Given the description of an element on the screen output the (x, y) to click on. 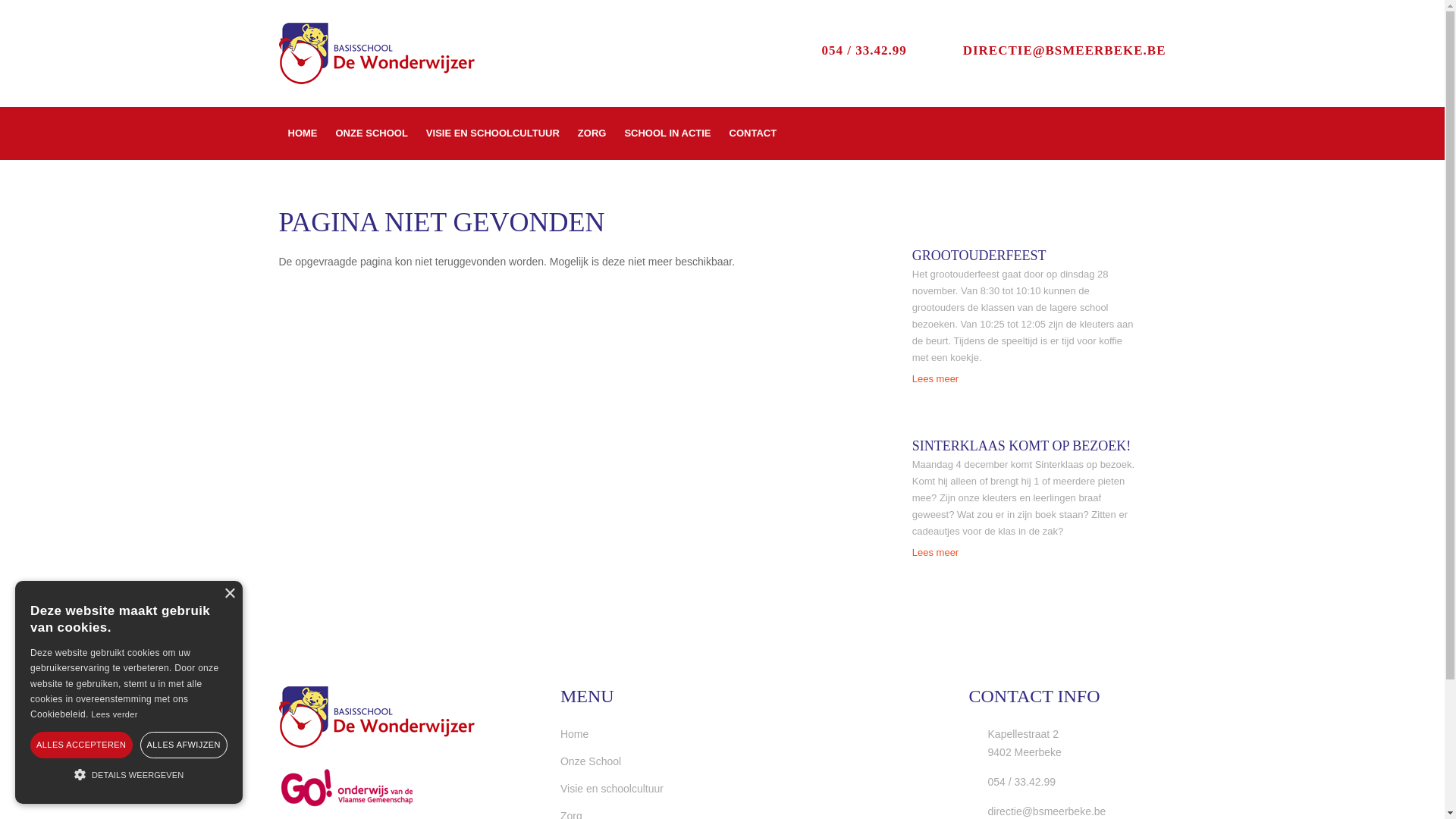
VISIE EN SCHOOLCULTUUR Element type: text (492, 133)
DIRECTIE@BSMEERBEKE.BE Element type: text (1049, 50)
054 / 33.42.99 Element type: text (848, 50)
ZORG Element type: text (591, 133)
Onze School Element type: text (611, 761)
HOME Element type: text (302, 133)
SINTERKLAAS KOMT OP BEZOEK! Element type: text (1025, 446)
SCHOOL IN ACTIE Element type: text (667, 133)
directie@bsmeerbeke.be Element type: text (1037, 811)
GROOTOUDERFEEST Element type: text (1025, 256)
054 / 33.42.99 Element type: text (1012, 781)
Visie en schoolcultuur Element type: text (611, 788)
CONTACT Element type: text (753, 133)
Lees meer Element type: text (935, 552)
Home Element type: text (611, 733)
ONZE SCHOOL Element type: text (371, 133)
Lees meer Element type: text (935, 378)
Lees verder Element type: text (114, 713)
